Given the description of an element on the screen output the (x, y) to click on. 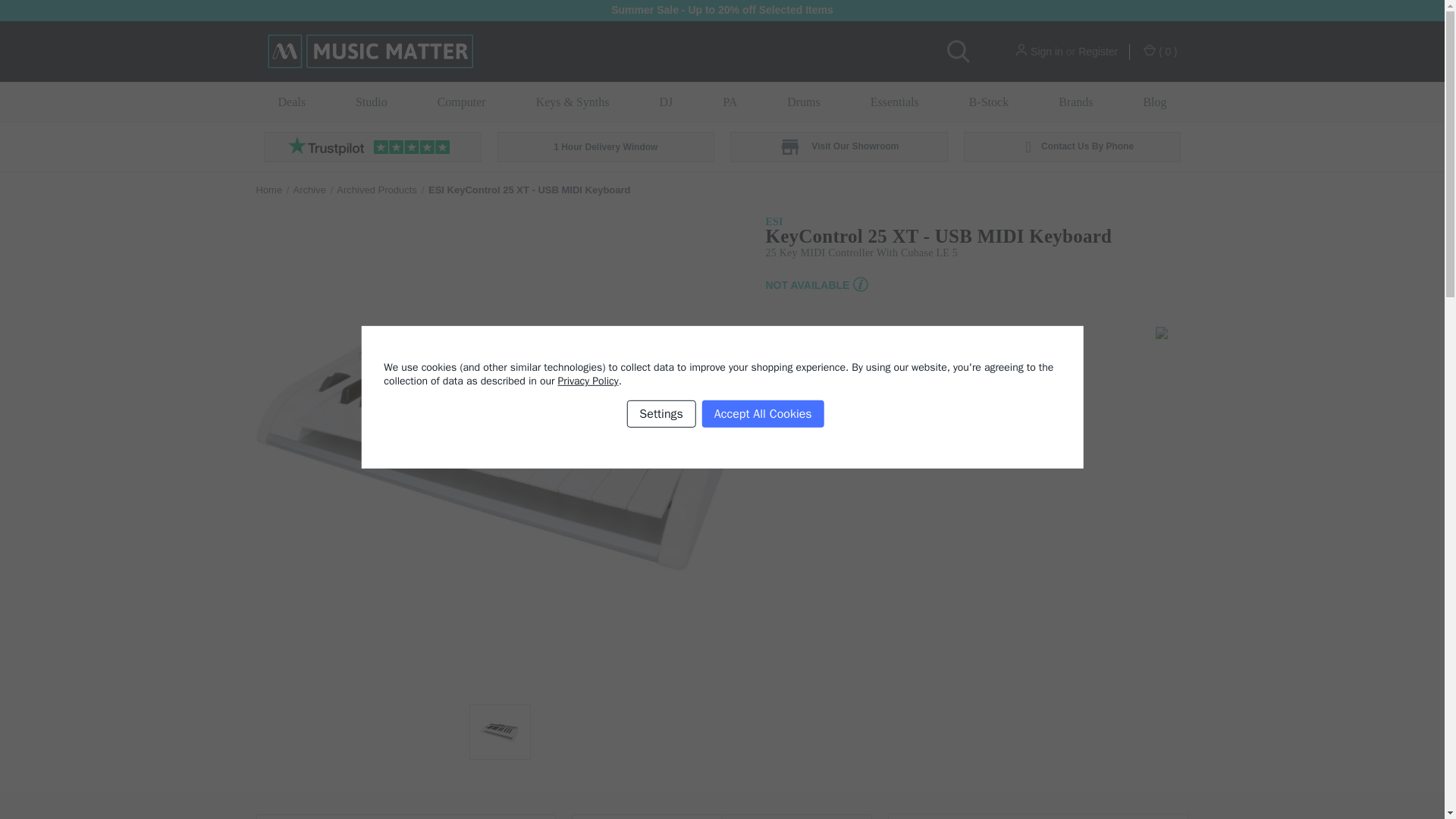
ESI KeyControl 25Xt (499, 732)
Sign in (1046, 51)
Music Matter (368, 51)
Deals (291, 102)
Computer (461, 102)
Studio (370, 102)
Register (1098, 51)
